Given the description of an element on the screen output the (x, y) to click on. 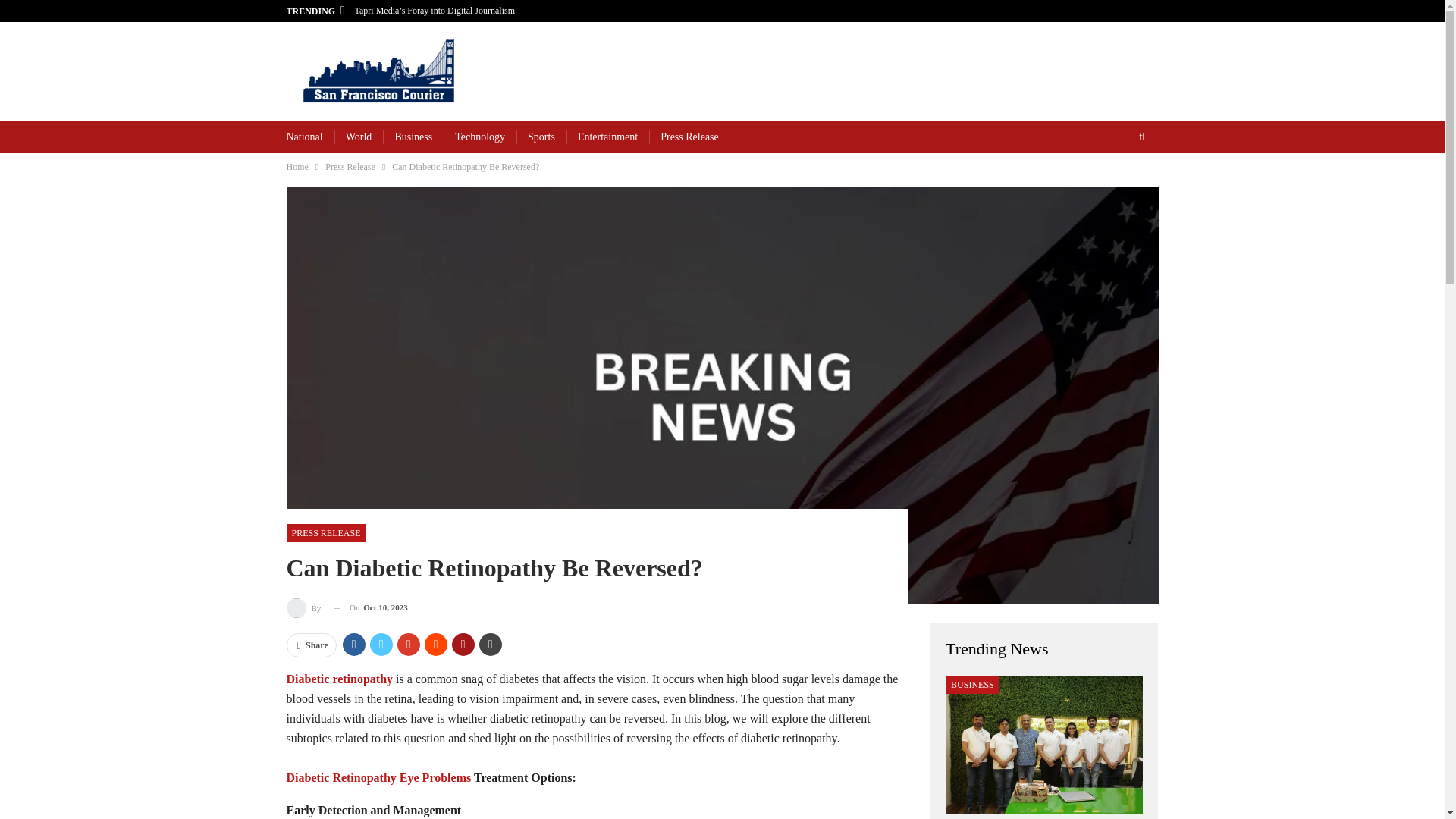
Browse Author Articles (304, 607)
Press Release (690, 136)
Home (297, 166)
Diabetic Retinopathy Eye Problems (378, 777)
PRESS RELEASE (326, 533)
Diabetic retinopathy (339, 678)
Entertainment (607, 136)
By (304, 607)
Press Release (349, 166)
